Given the description of an element on the screen output the (x, y) to click on. 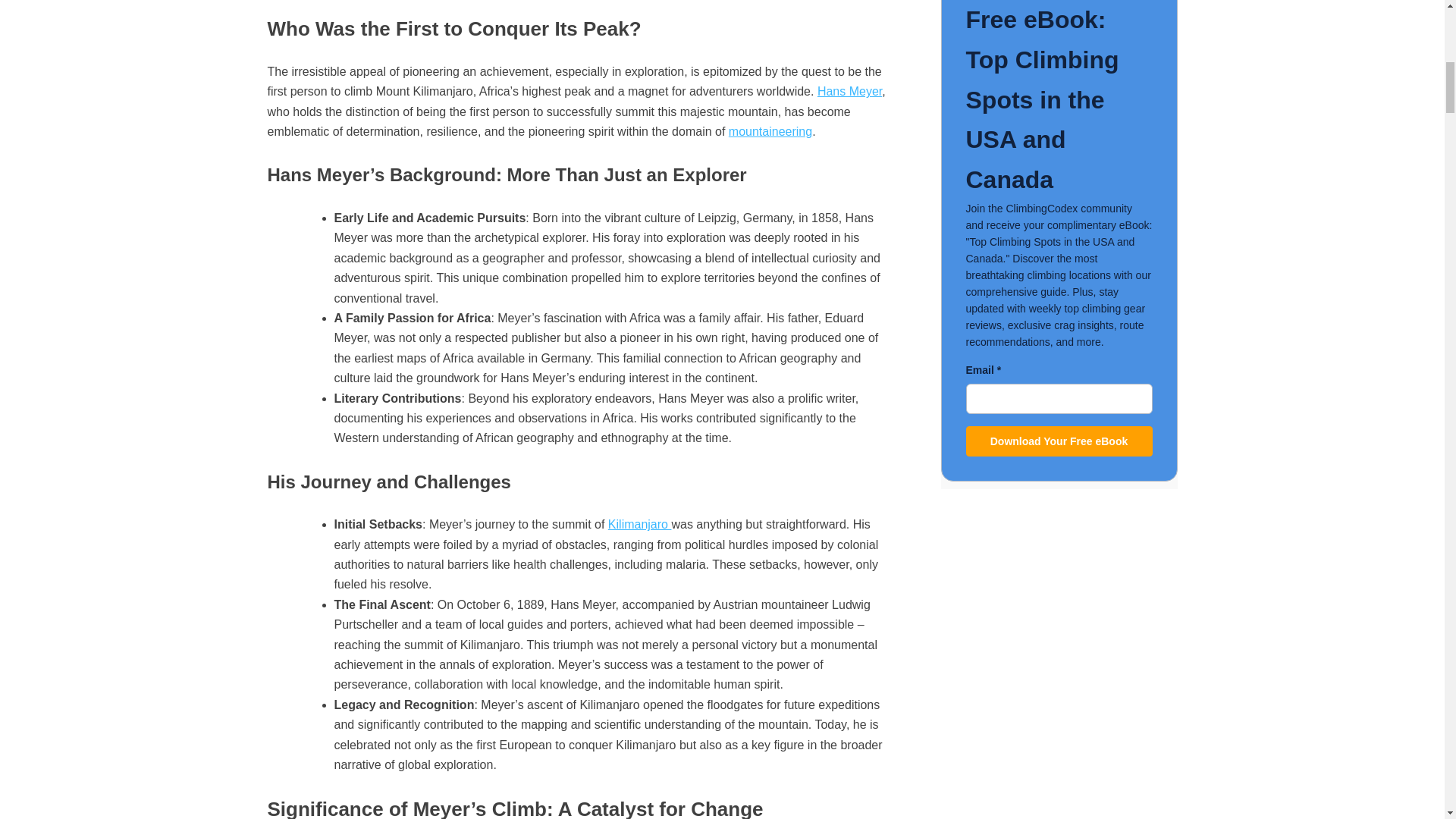
Kilimanjaro (639, 523)
mountaineering (770, 131)
Hans Meyer (849, 91)
